Given the description of an element on the screen output the (x, y) to click on. 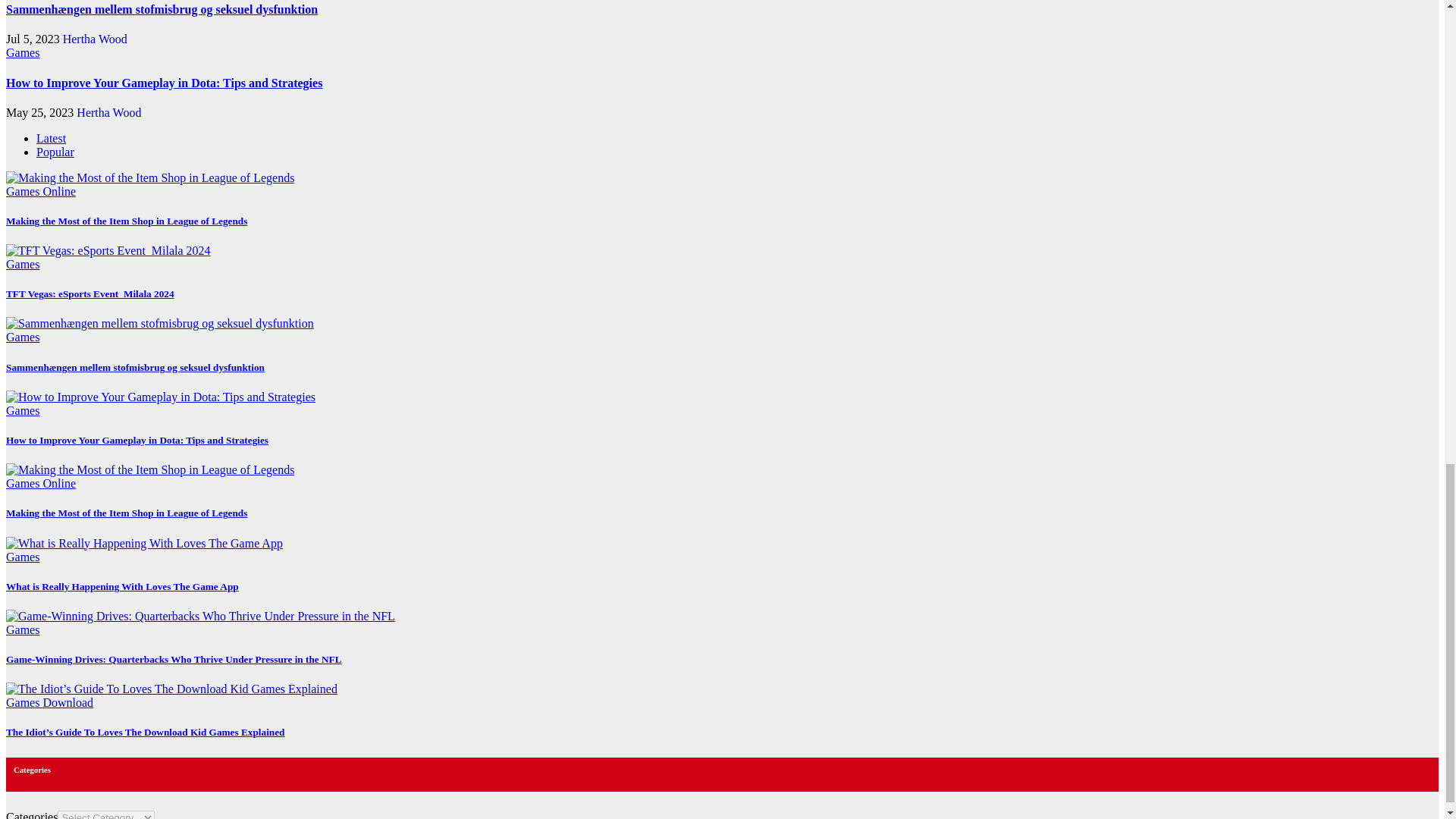
Hertha Wood (95, 38)
